Given the description of an element on the screen output the (x, y) to click on. 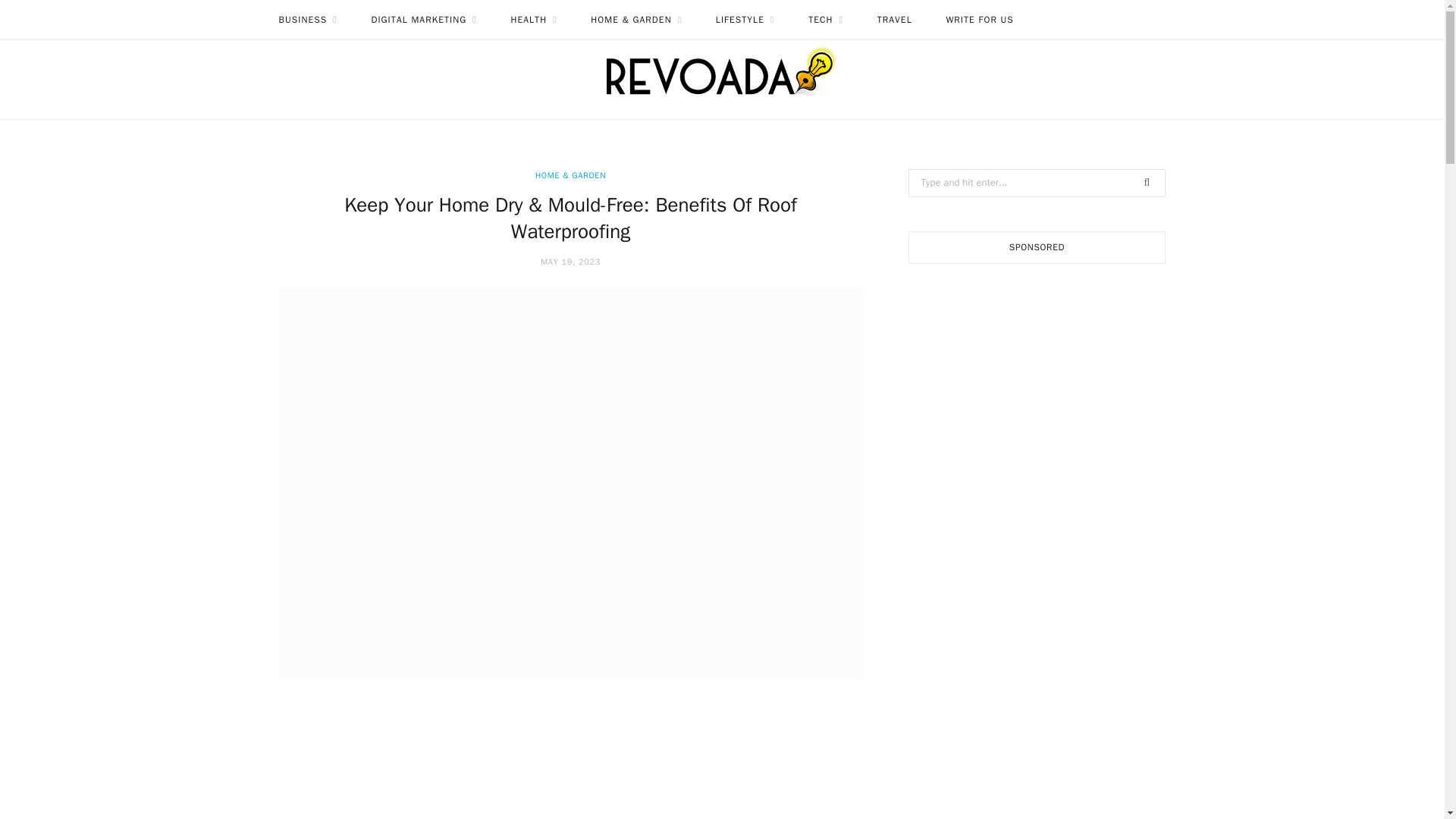
LIFESTYLE (745, 19)
DIGITAL MARKETING (423, 19)
Search for: (1037, 182)
Revoada (722, 67)
BUSINESS (307, 19)
HEALTH (533, 19)
TECH (826, 19)
